Given the description of an element on the screen output the (x, y) to click on. 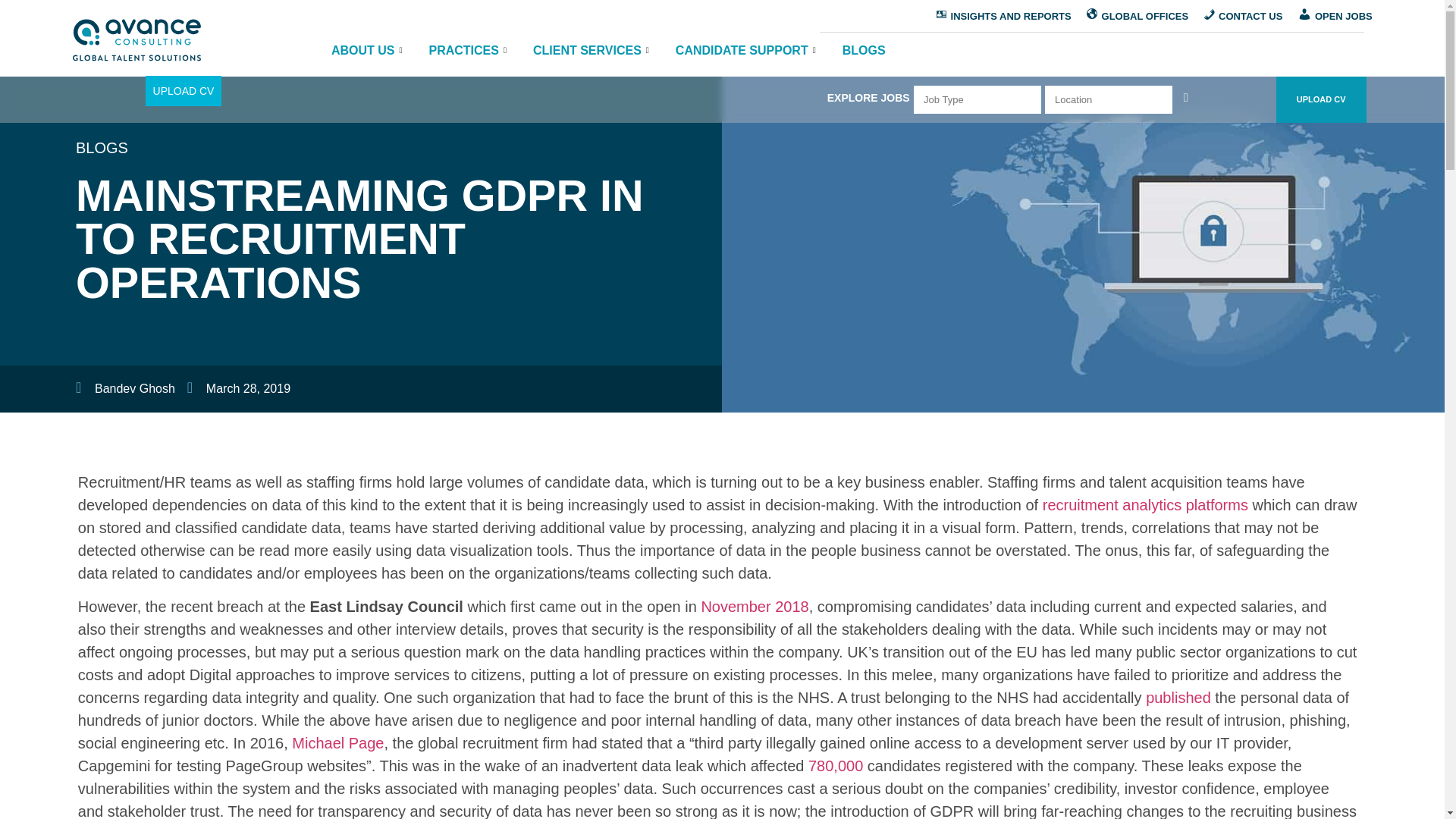
UPLOAD CV (183, 91)
OPEN JOBS (1334, 16)
CONTACT US (1242, 16)
ABOUT US (368, 60)
INSIGHTS AND REPORTS (1003, 16)
GLOBAL OFFICES (1137, 16)
